Given the description of an element on the screen output the (x, y) to click on. 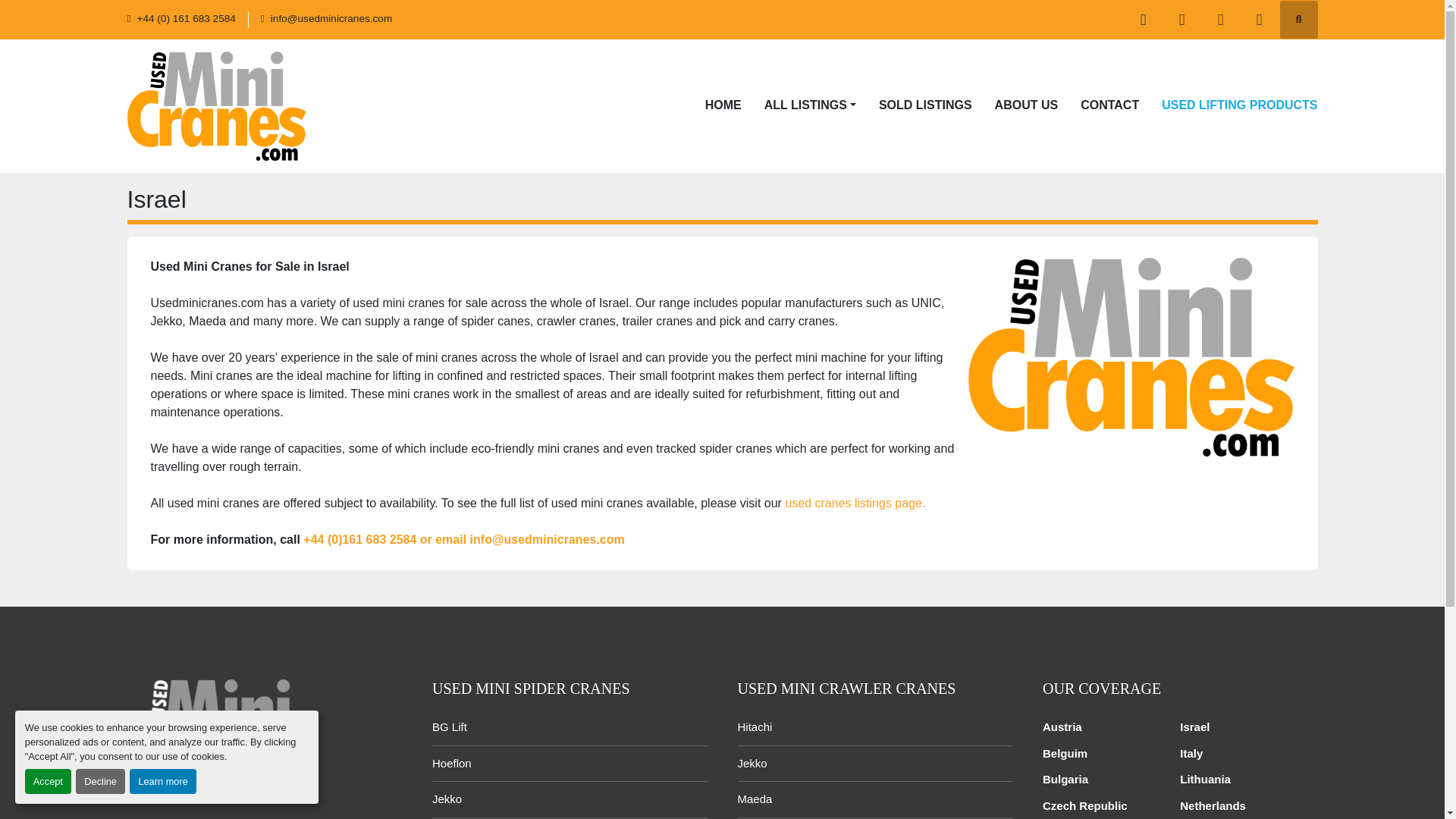
Accept cookies (47, 781)
Hoeflon (451, 762)
USED LIFTING PRODUCTS (1239, 105)
ALL LISTINGS (805, 105)
ABOUT US (1026, 105)
CONTACT (1109, 105)
Accept (47, 781)
HOME (722, 105)
BG Lift (449, 726)
Jekko (446, 798)
Learn more (162, 781)
used cranes listings page. (854, 502)
Hitachi (753, 726)
SOLD LISTINGS (925, 105)
Decline (100, 781)
